Given the description of an element on the screen output the (x, y) to click on. 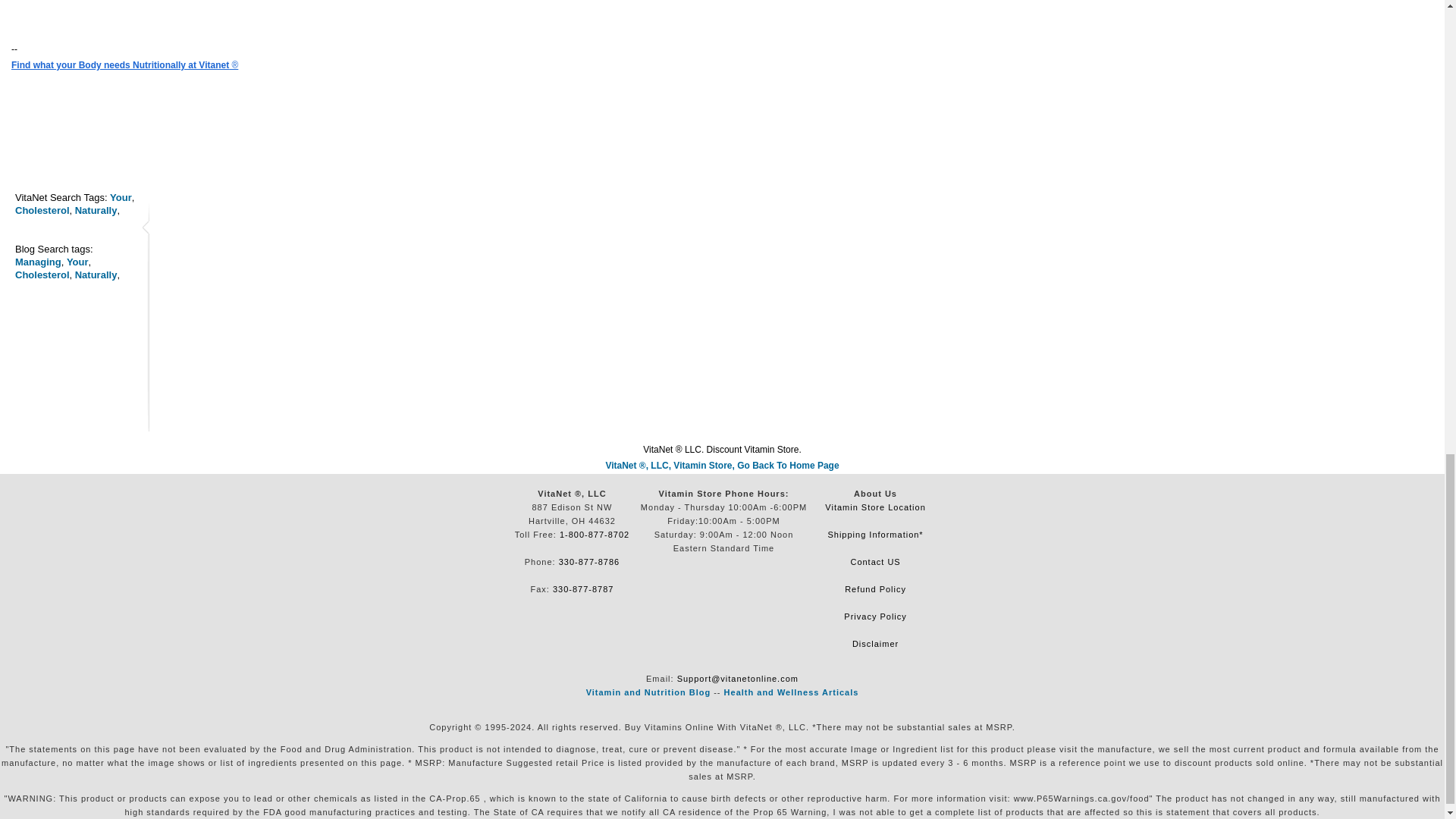
Search for: Your (121, 197)
Search for: Naturally (96, 210)
Search Forums for: Naturally (96, 274)
vitanet vitamin store (721, 465)
Search for: Cholesterol (41, 210)
Search Forums for: Cholesterol (41, 274)
Search Forums for: Your (77, 261)
Search Forums for: Managing (37, 261)
